Given the description of an element on the screen output the (x, y) to click on. 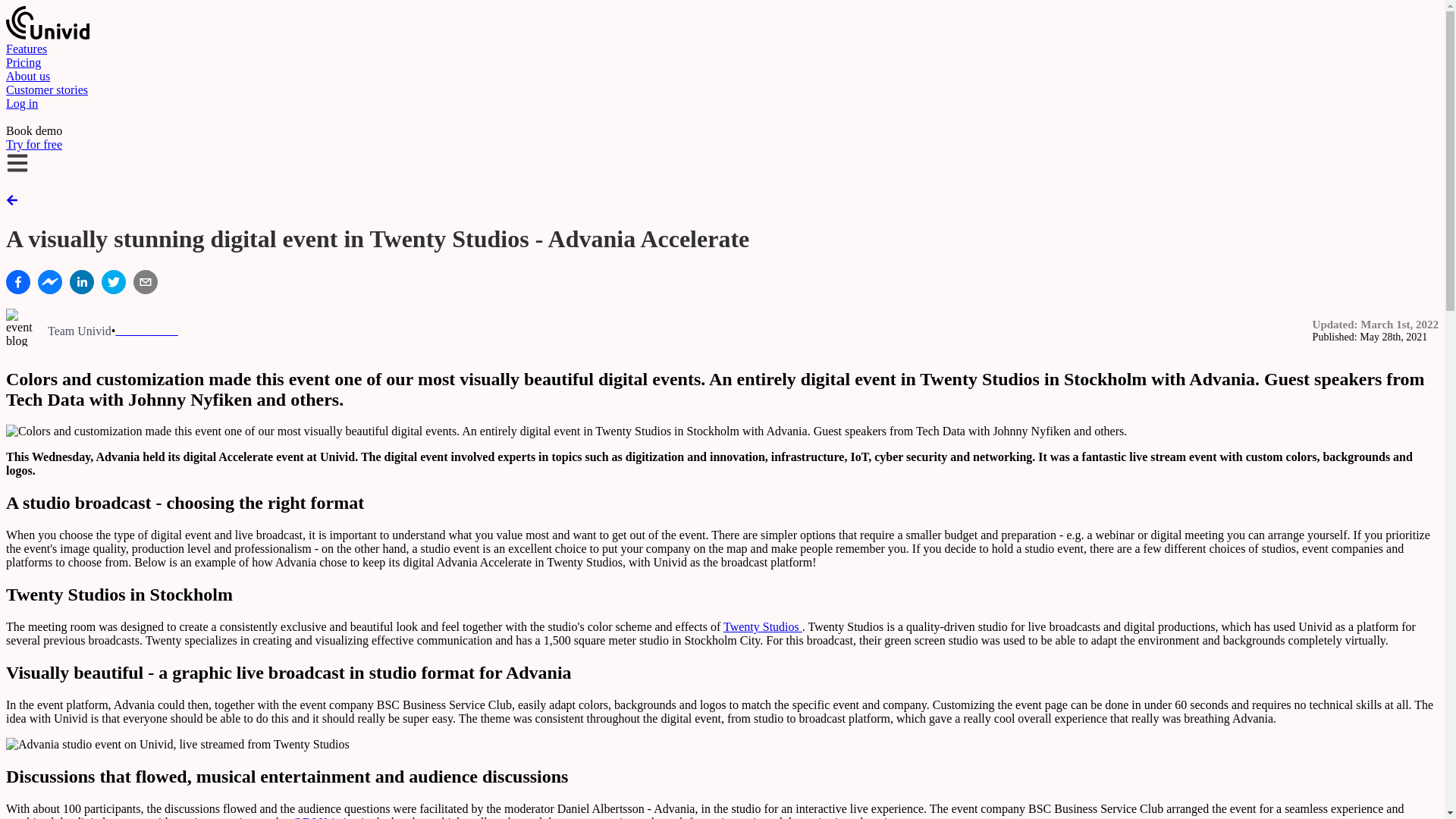
Try for free (33, 144)
virtual-events (146, 331)
Twenty Studios (762, 626)
